Given the description of an element on the screen output the (x, y) to click on. 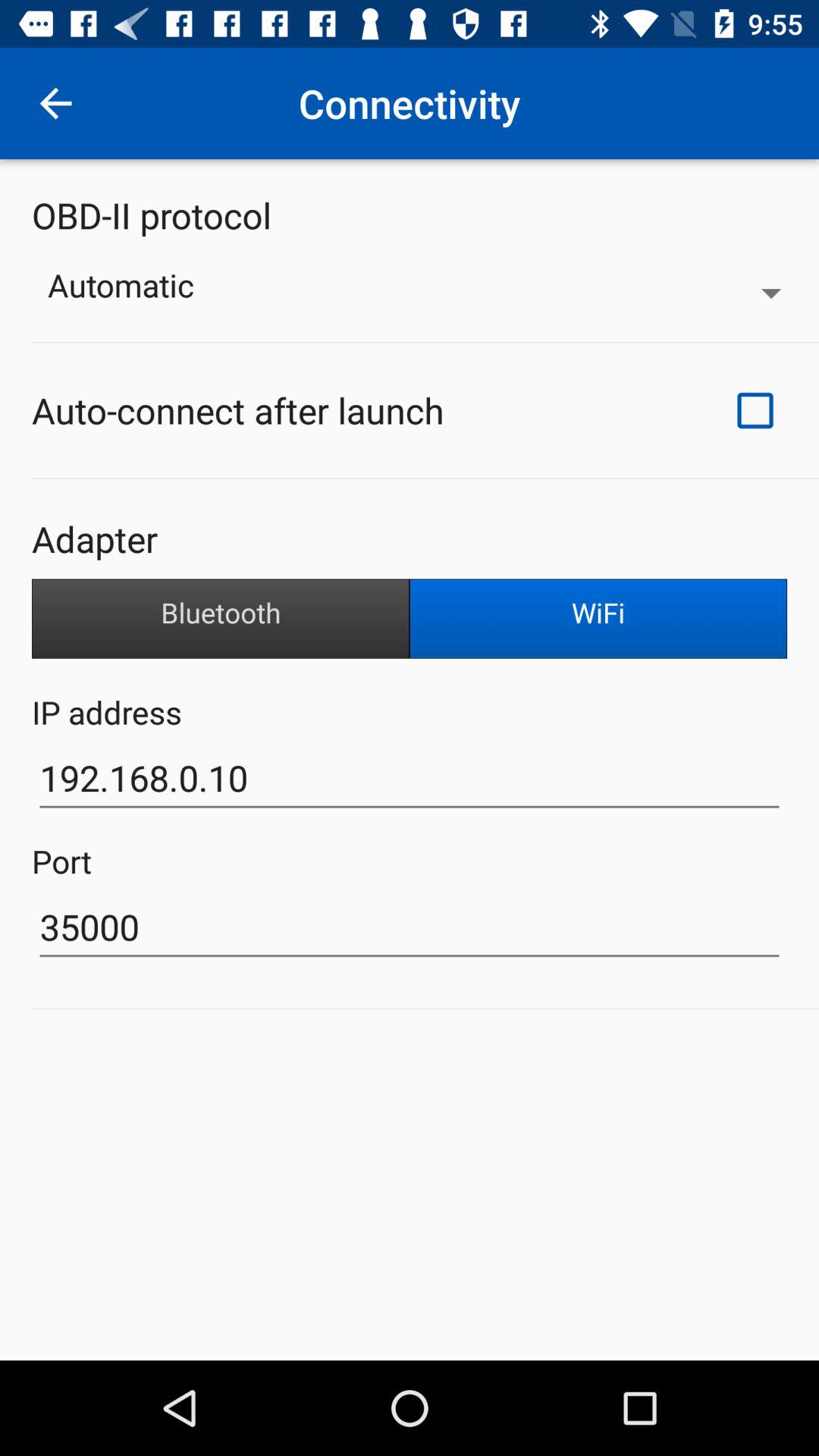
tap item next to the wifi (220, 618)
